Given the description of an element on the screen output the (x, y) to click on. 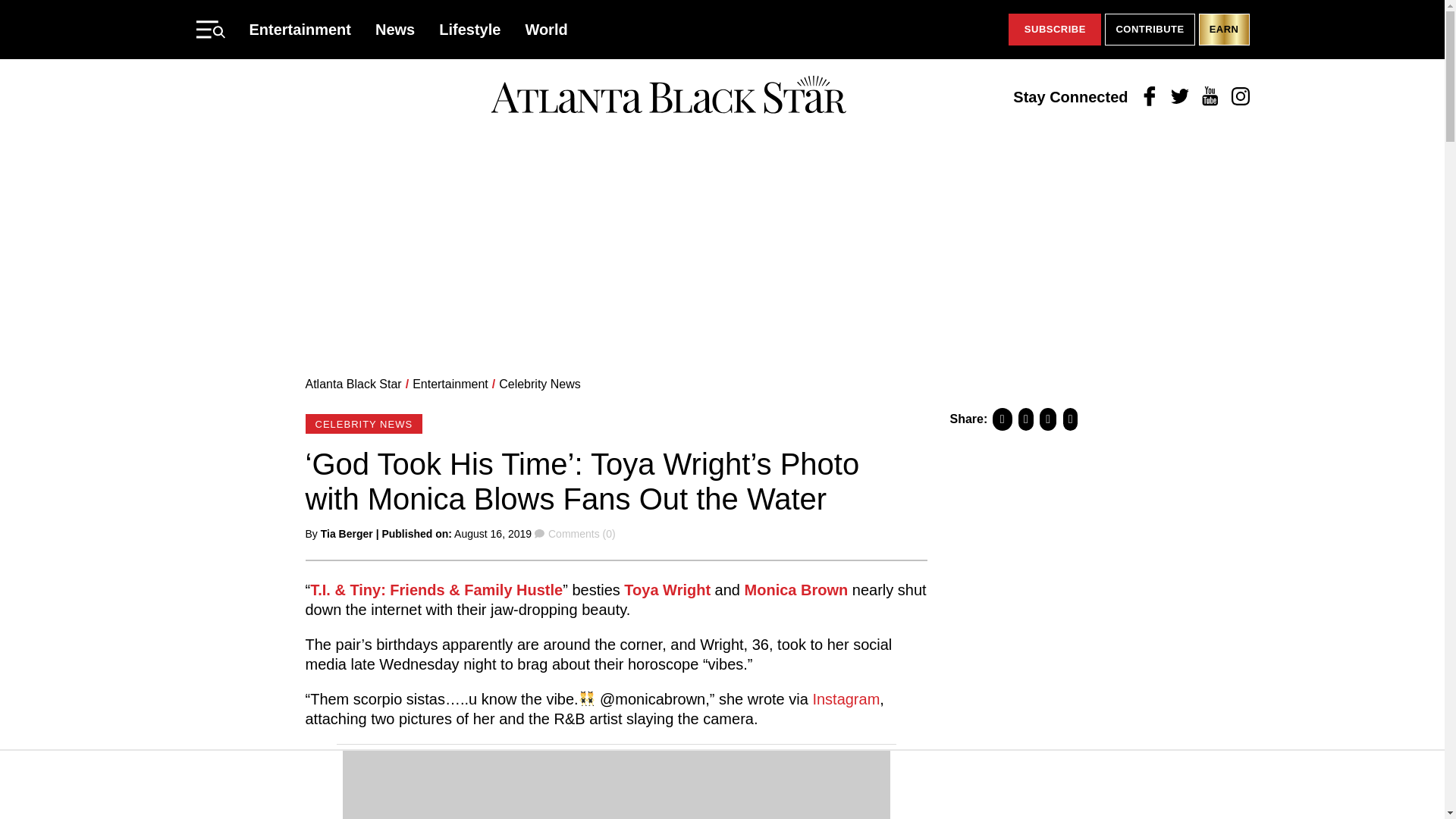
Go to Atlanta Black Star. (352, 383)
Atlanta Black Star (352, 383)
Atlanta Black Star (667, 96)
Entertainment (449, 383)
CONTRIBUTE (1149, 29)
SUBSCRIBE (1054, 29)
Go to the Celebrity News Category archives. (539, 383)
Entertainment (299, 29)
Go to the Entertainment Category archives. (449, 383)
News (394, 29)
World (545, 29)
EARN (1223, 29)
